Given the description of an element on the screen output the (x, y) to click on. 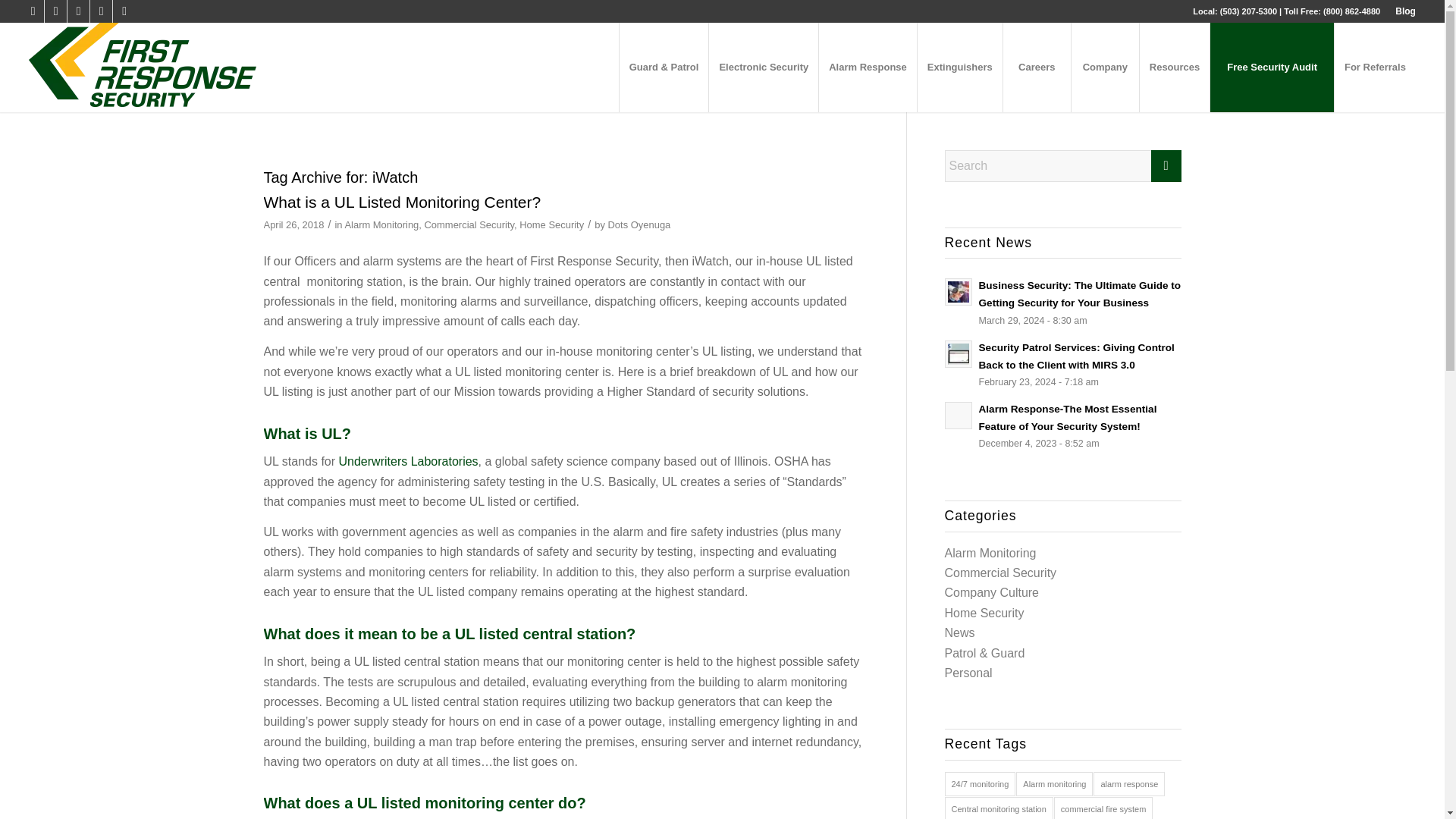
Electronic Security (762, 67)
Click to start search (1165, 165)
Company (1104, 67)
LinkedIn (77, 11)
Youtube (124, 11)
Posts by Dots Oyenuga (638, 224)
Resources (1173, 67)
Facebook (32, 11)
Blog (1404, 11)
Extinguishers (960, 67)
